Given the description of an element on the screen output the (x, y) to click on. 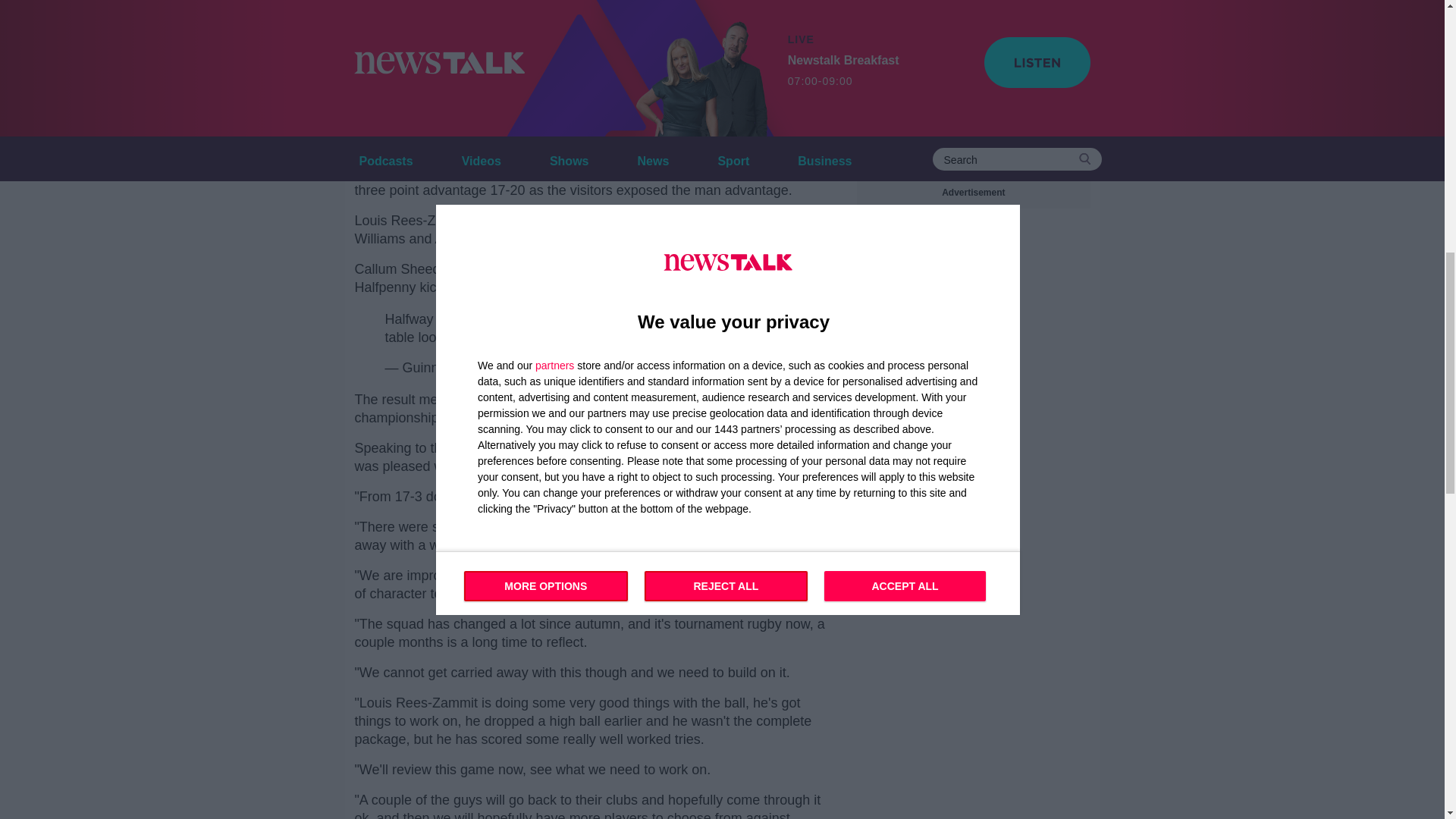
February 13, 2021 (723, 367)
BBC (466, 447)
